Given the description of an element on the screen output the (x, y) to click on. 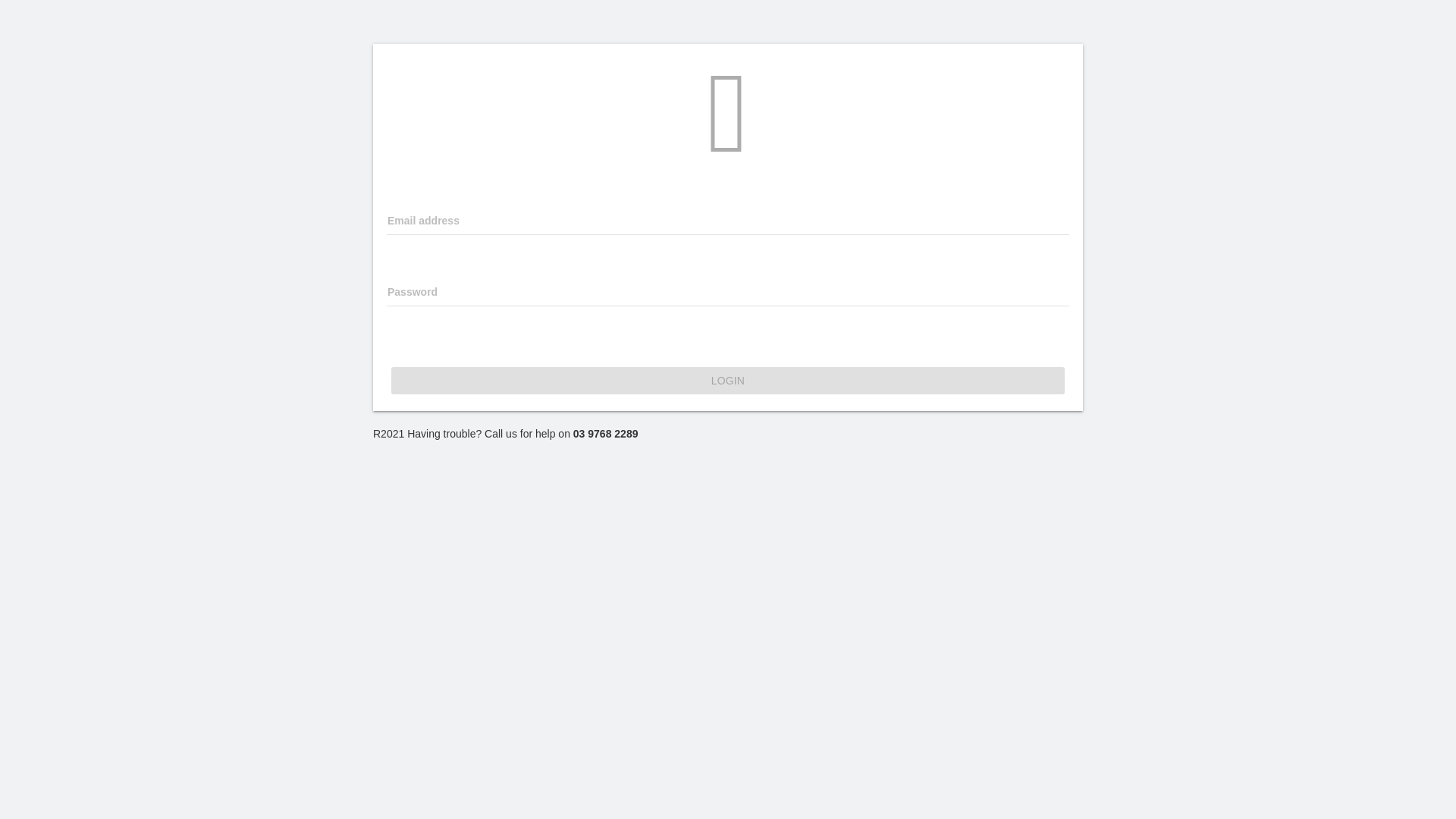
LOGIN Element type: text (727, 380)
